Given the description of an element on the screen output the (x, y) to click on. 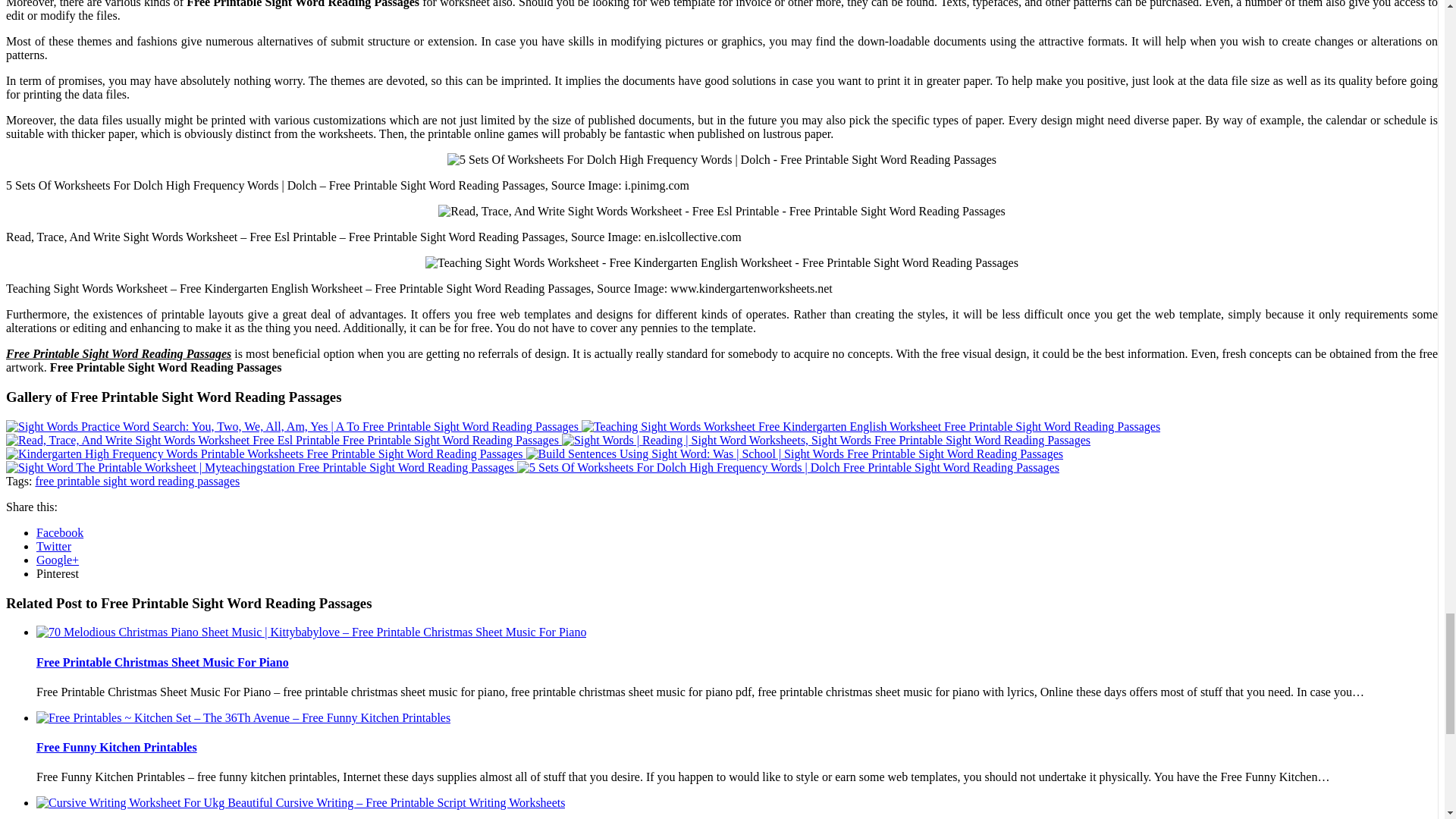
Twitter (53, 545)
free printable sight word reading passages (137, 481)
Free Printable Christmas Sheet Music For Piano (162, 662)
Free Funny Kitchen Printables (116, 747)
Facebook (59, 532)
Pinterest (57, 573)
